Given the description of an element on the screen output the (x, y) to click on. 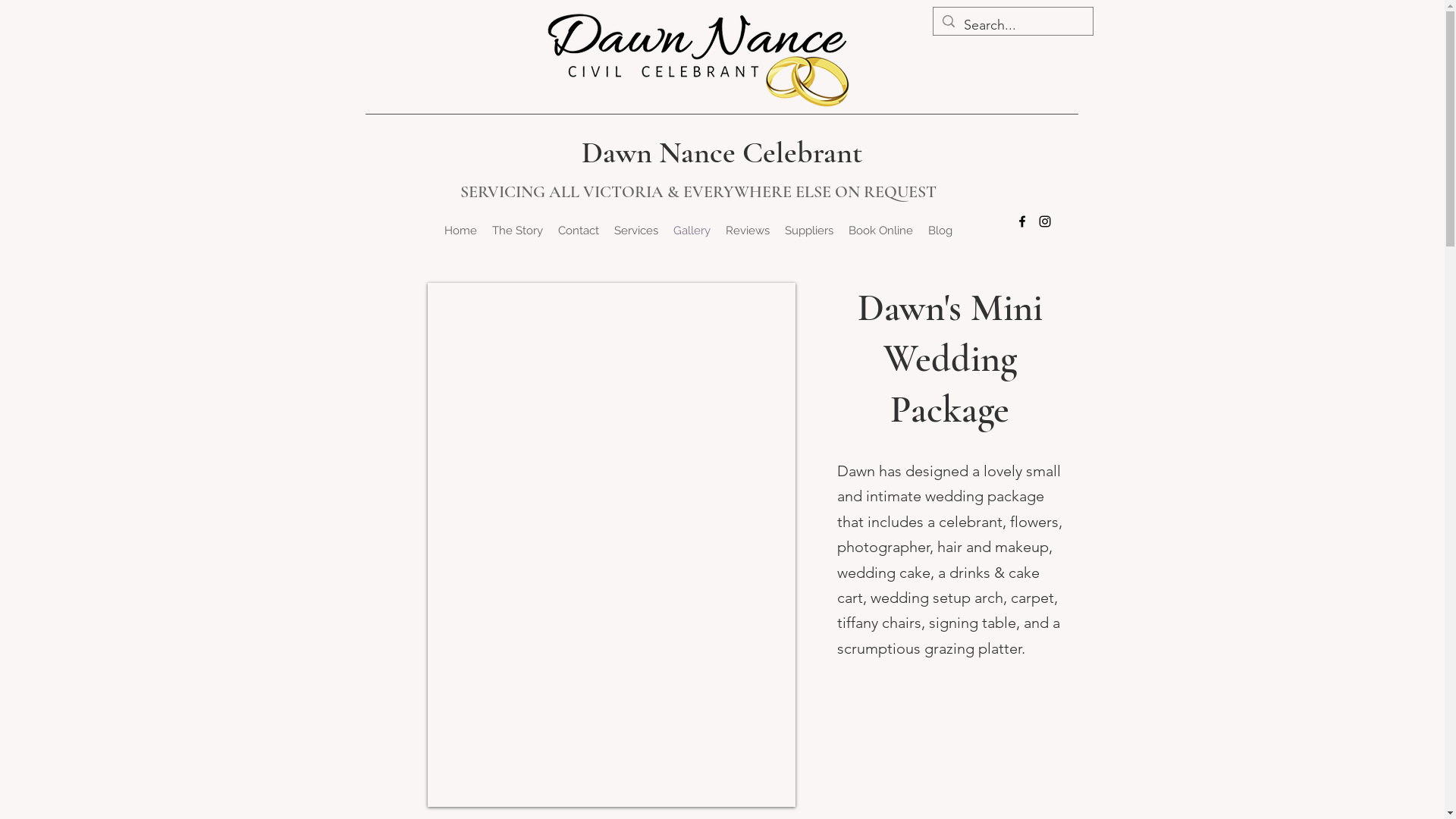
The Story Element type: text (516, 230)
Gallery Element type: text (691, 230)
Suppliers Element type: text (808, 230)
Reviews Element type: text (746, 230)
Contact Element type: text (578, 230)
Home Element type: text (460, 230)
Services Element type: text (635, 230)
Blog Element type: text (940, 230)
Book Online Element type: text (879, 230)
